Given the description of an element on the screen output the (x, y) to click on. 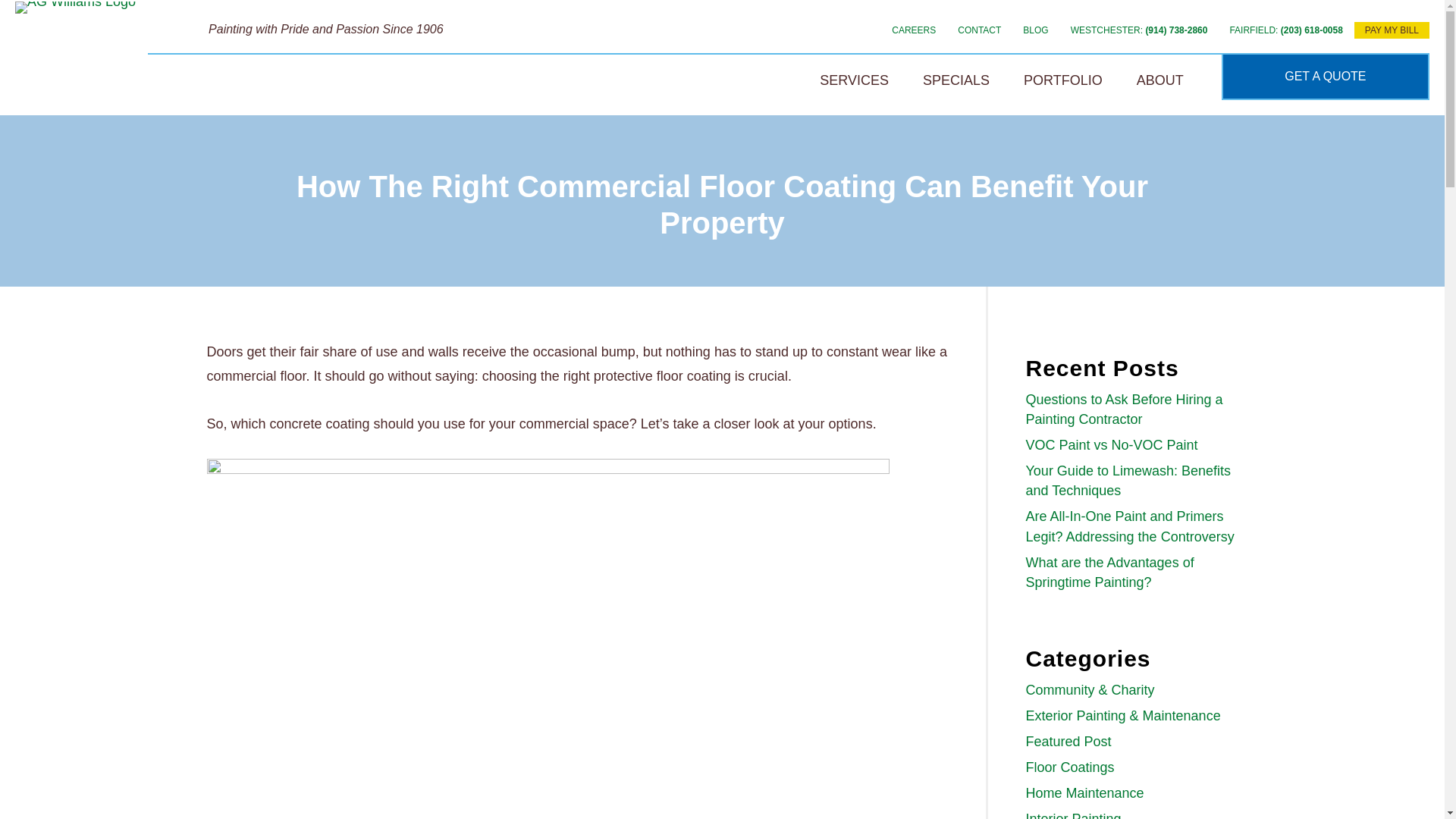
CAREERS (577, 53)
GET A QUOTE (1325, 74)
AG Williams Logo (74, 7)
ABOUT (1160, 81)
CONTACT (667, 51)
SERVICES (854, 81)
BLOG (751, 50)
PORTFOLIO (1062, 81)
SPECIALS (956, 81)
PAY MY BILL (1192, 43)
